Given the description of an element on the screen output the (x, y) to click on. 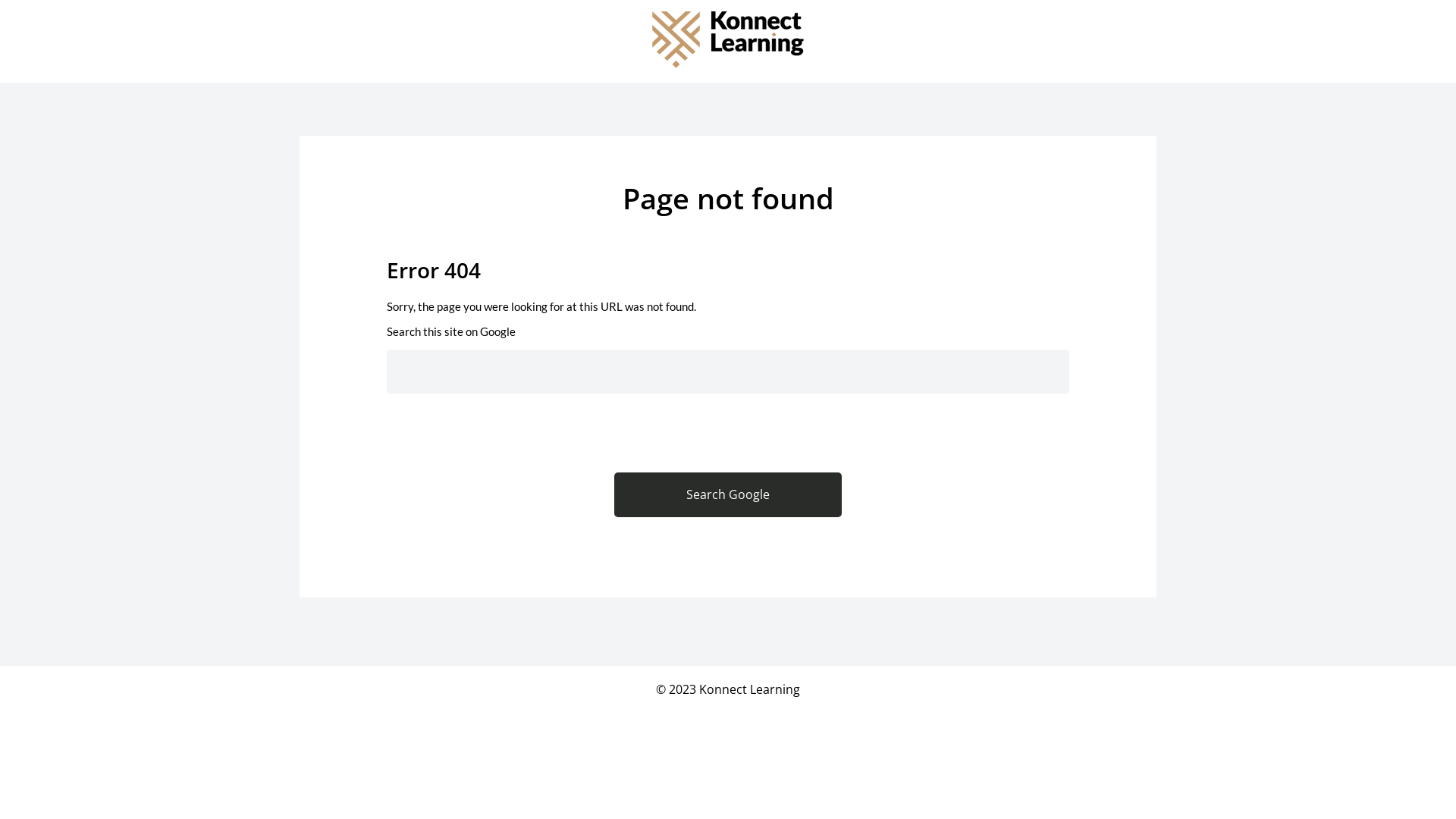
Search Google Element type: text (727, 494)
Konnect_Learning_Logo_Master_RGB Element type: hover (727, 39)
